Given the description of an element on the screen output the (x, y) to click on. 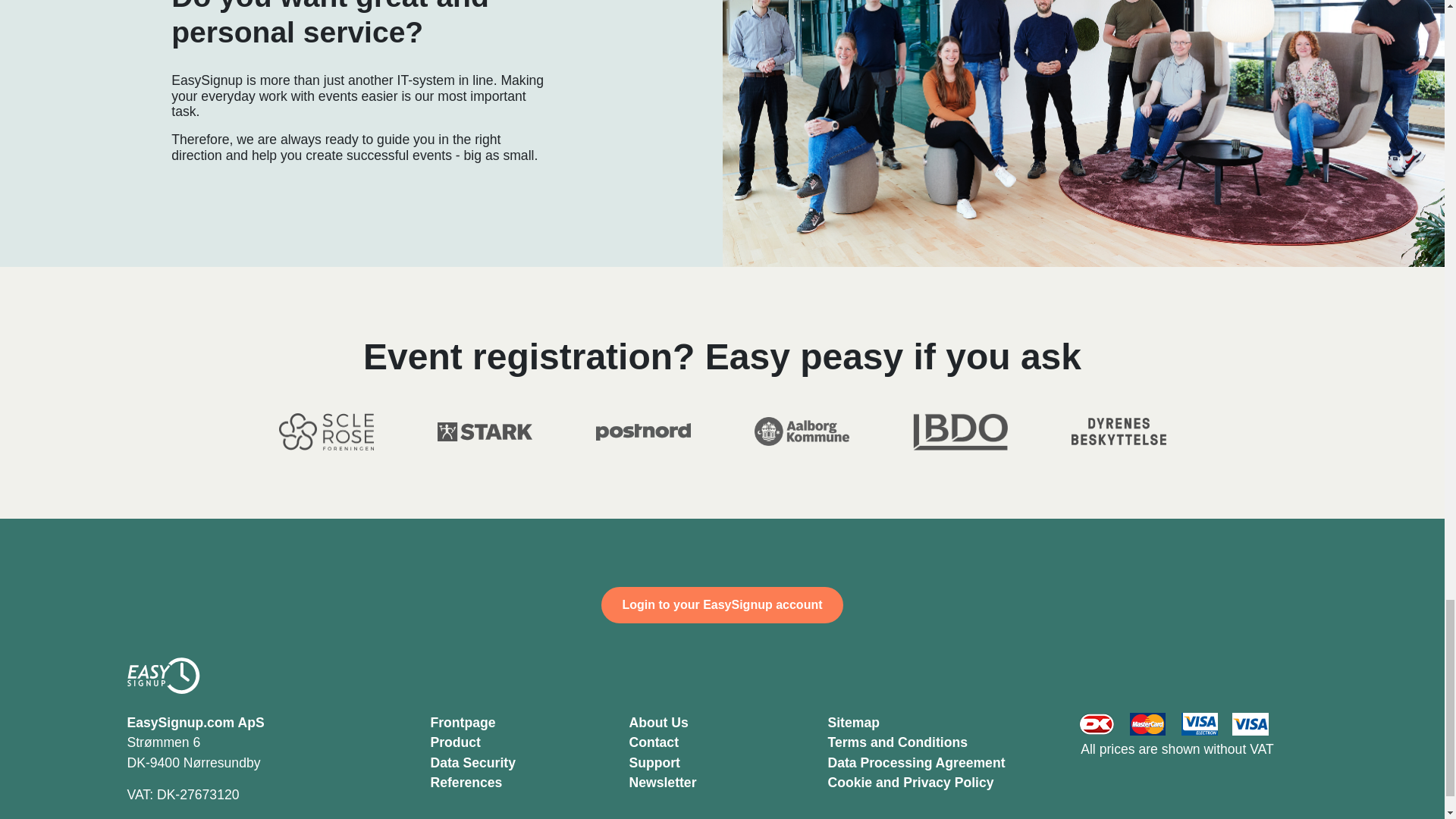
Terms and Conditions (898, 742)
Data Security (472, 762)
Contact (653, 742)
About Us (658, 722)
References (466, 782)
Product (455, 742)
Sitemap (853, 722)
Support (653, 762)
Data Processing Agreement (917, 762)
Frontpage (463, 722)
Login to your EasySignup account (722, 605)
Cookie and Privacy Policy (911, 782)
Newsletter (662, 782)
